Given the description of an element on the screen output the (x, y) to click on. 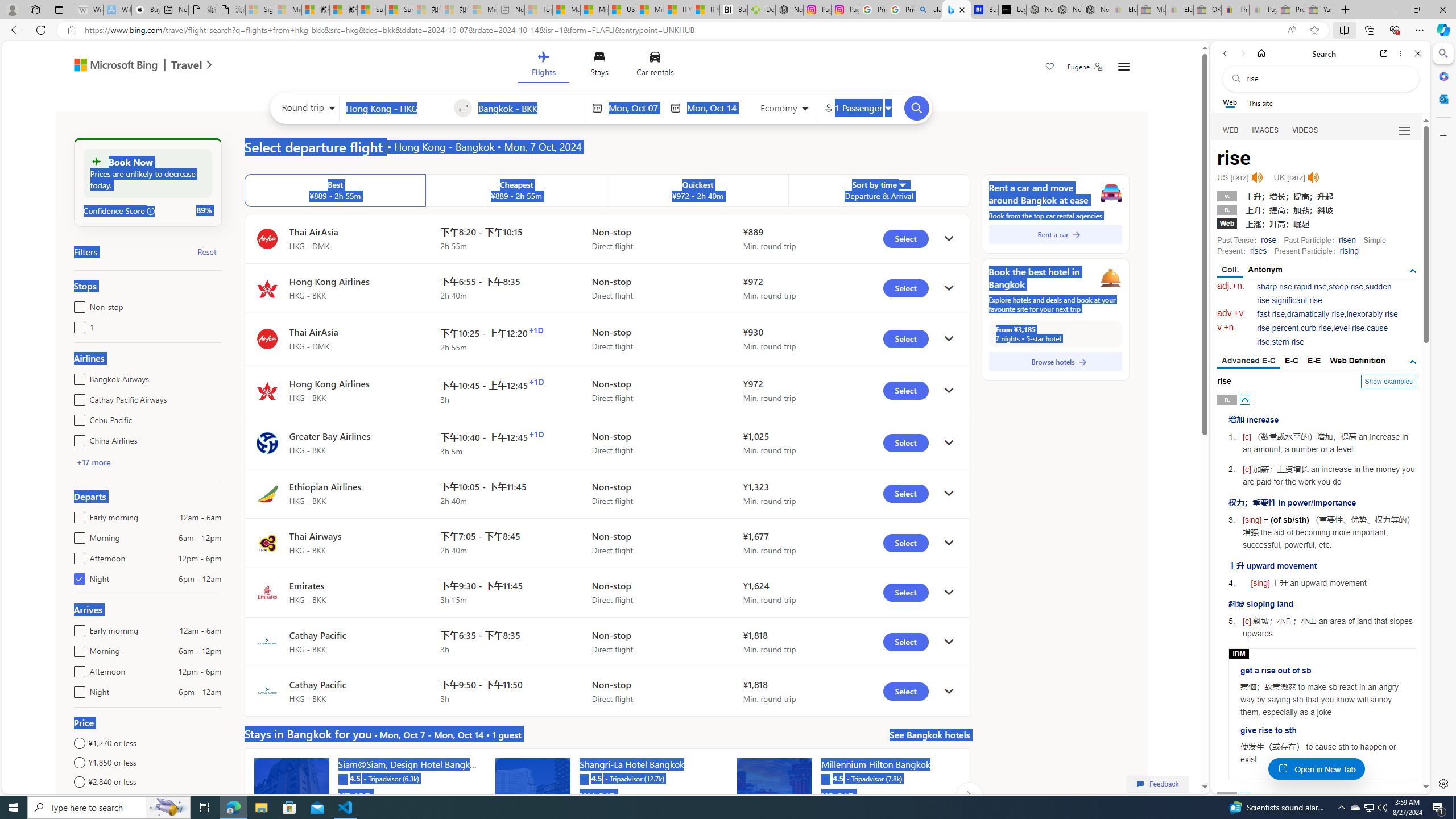
Bangkok Airways (76, 376)
Click to scroll right (968, 795)
fast rise (1270, 313)
Afternoon12pm - 6pm (76, 669)
level rise (1349, 328)
